Given the description of an element on the screen output the (x, y) to click on. 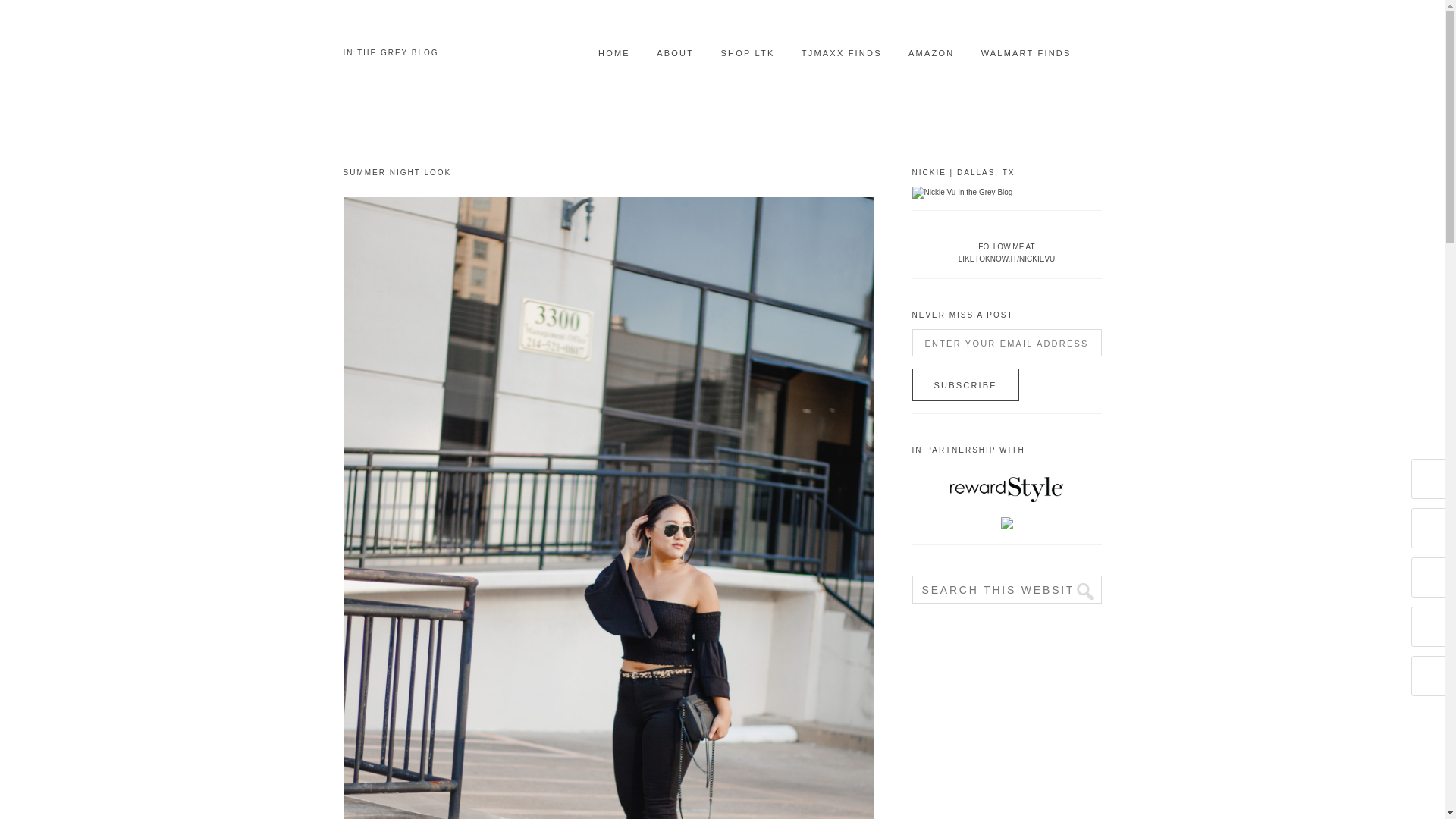
AMAZON (930, 53)
Search (1078, 591)
TJMAXX FINDS (842, 53)
Nickie Vu In the Grey Blog (961, 192)
Subscribe (964, 384)
SUMMER NIGHT LOOK (396, 172)
WALMART FINDS (1026, 53)
Search (1078, 591)
Search (1078, 591)
Subscribe (964, 384)
